Given the description of an element on the screen output the (x, y) to click on. 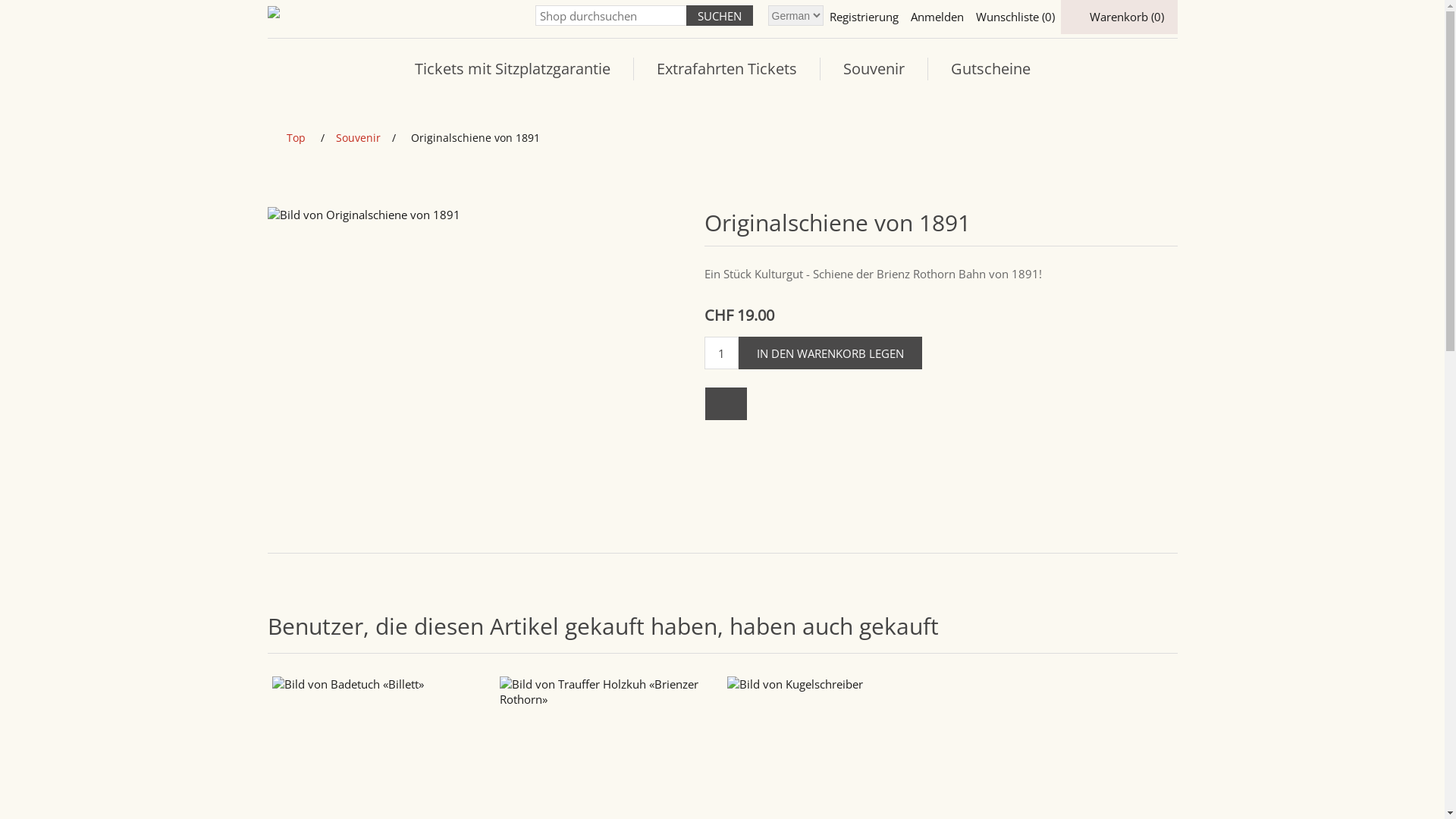
Registrierung Element type: text (863, 17)
Top Element type: text (295, 137)
Extrafahrten Tickets Element type: text (726, 68)
Warenkorb (0) Element type: text (1118, 17)
Bild von Originalschiene von 1891 Element type: hover (475, 214)
Souvenir Element type: text (358, 137)
Anmelden Element type: text (936, 17)
Suchen Element type: text (718, 15)
Wunschliste (0) Element type: text (1014, 17)
Tickets mit Sitzplatzgarantie Element type: text (511, 68)
Gutscheine Element type: text (990, 68)
In den Warenkorb Legen Element type: text (830, 352)
Souvenir Element type: text (873, 68)
